Given the description of an element on the screen output the (x, y) to click on. 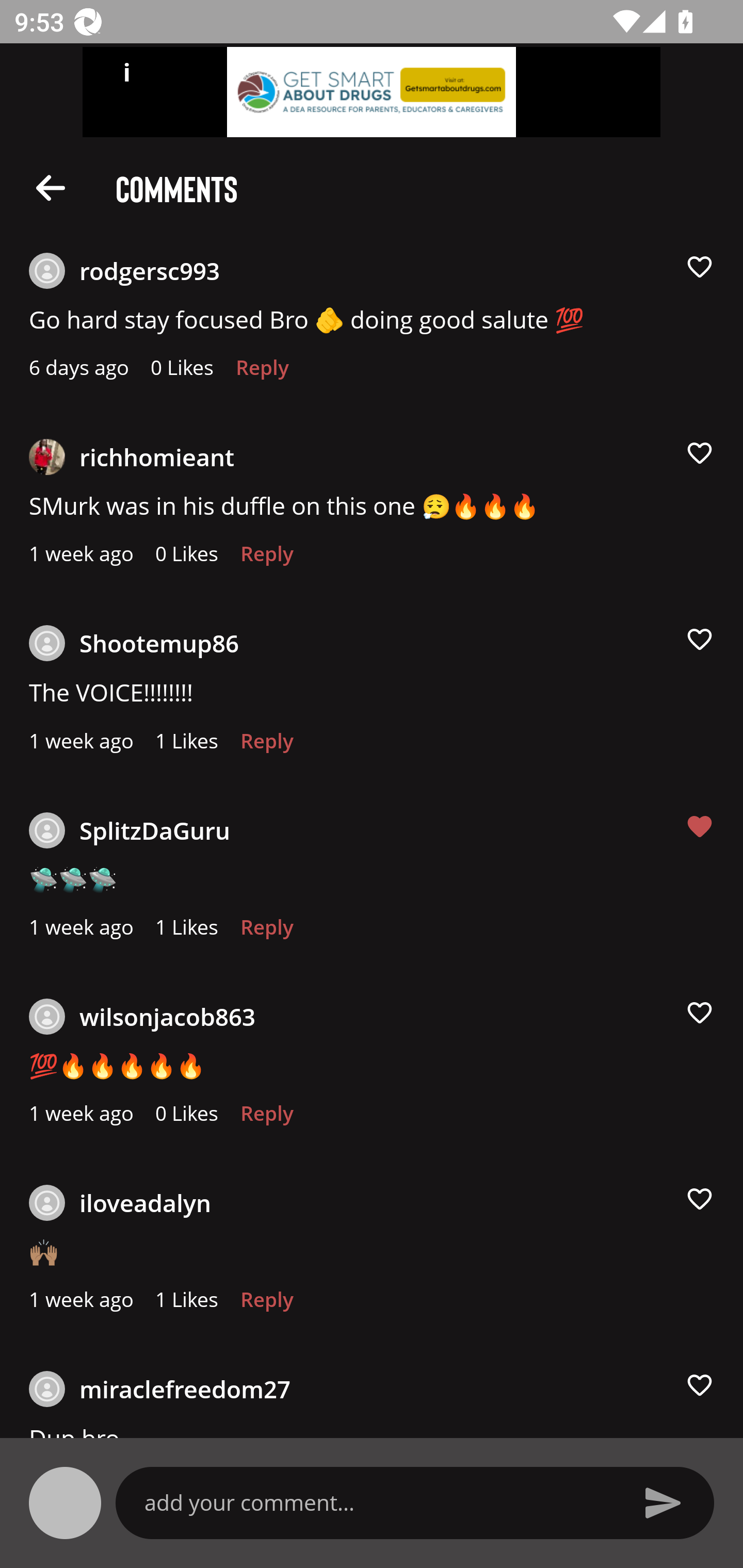
Description (50, 187)
Reply (261, 372)
Reply (266, 558)
Reply (266, 746)
Reply (266, 932)
Reply (266, 1117)
Reply (266, 1304)
add your comment… (378, 1502)
